Given the description of an element on the screen output the (x, y) to click on. 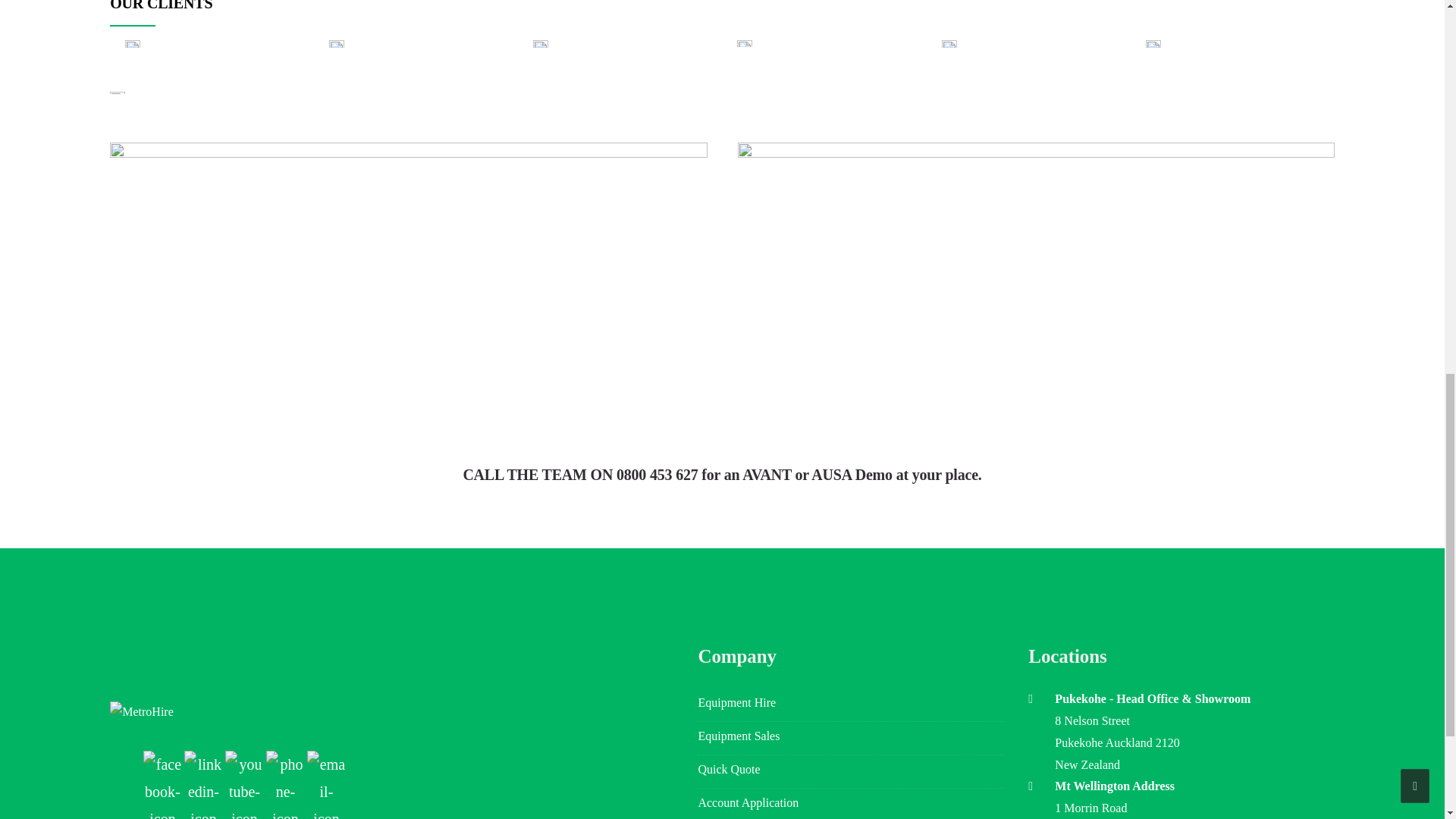
Our Client - City Care Logo Re (949, 43)
Equipment Sales (850, 738)
Our Client - Redbull Powder Company Logo Re (132, 43)
Equipment Hire (850, 704)
Our Client - Mr Apple Logo Re (336, 43)
Account Application (850, 803)
Our Client - Hawkins Re (1152, 43)
About-01 (117, 92)
Comvita logo (744, 43)
